Given the description of an element on the screen output the (x, y) to click on. 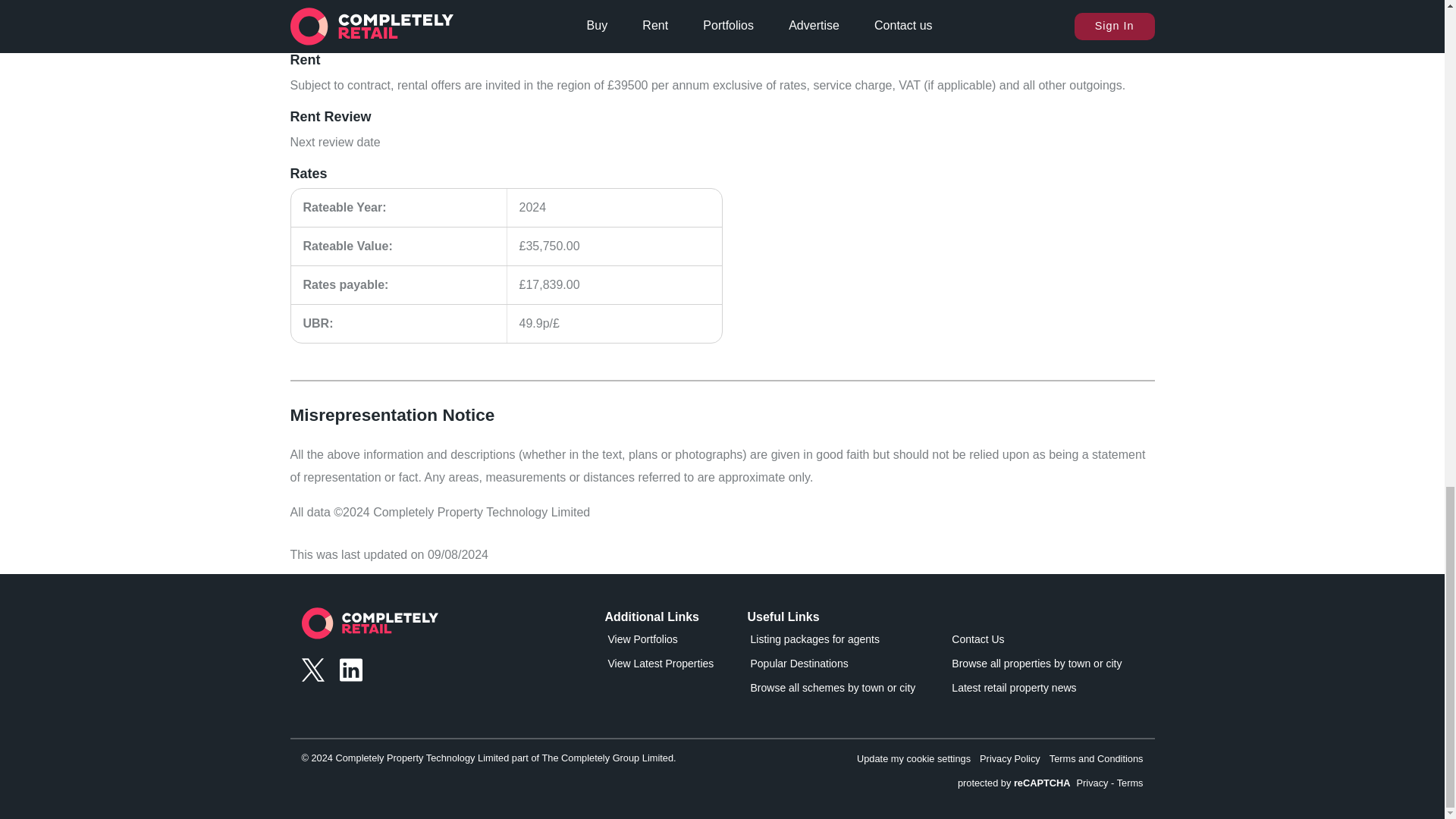
Latest retail property news (1036, 690)
Browse all properties by town or city (1036, 666)
Popular Destinations (833, 666)
Terms and Conditions (1095, 758)
Completely Retail homepage (369, 627)
View Latest Properties (673, 666)
Contact Us (1036, 642)
Listing packages for agents (833, 642)
Contact Us (1036, 642)
Latest retail property news (1036, 690)
